Given the description of an element on the screen output the (x, y) to click on. 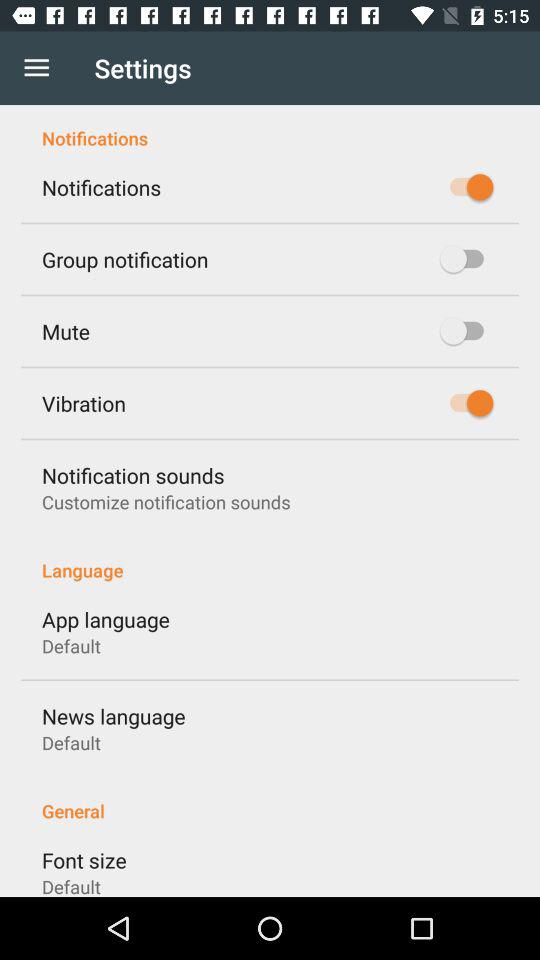
open app language item (105, 619)
